Given the description of an element on the screen output the (x, y) to click on. 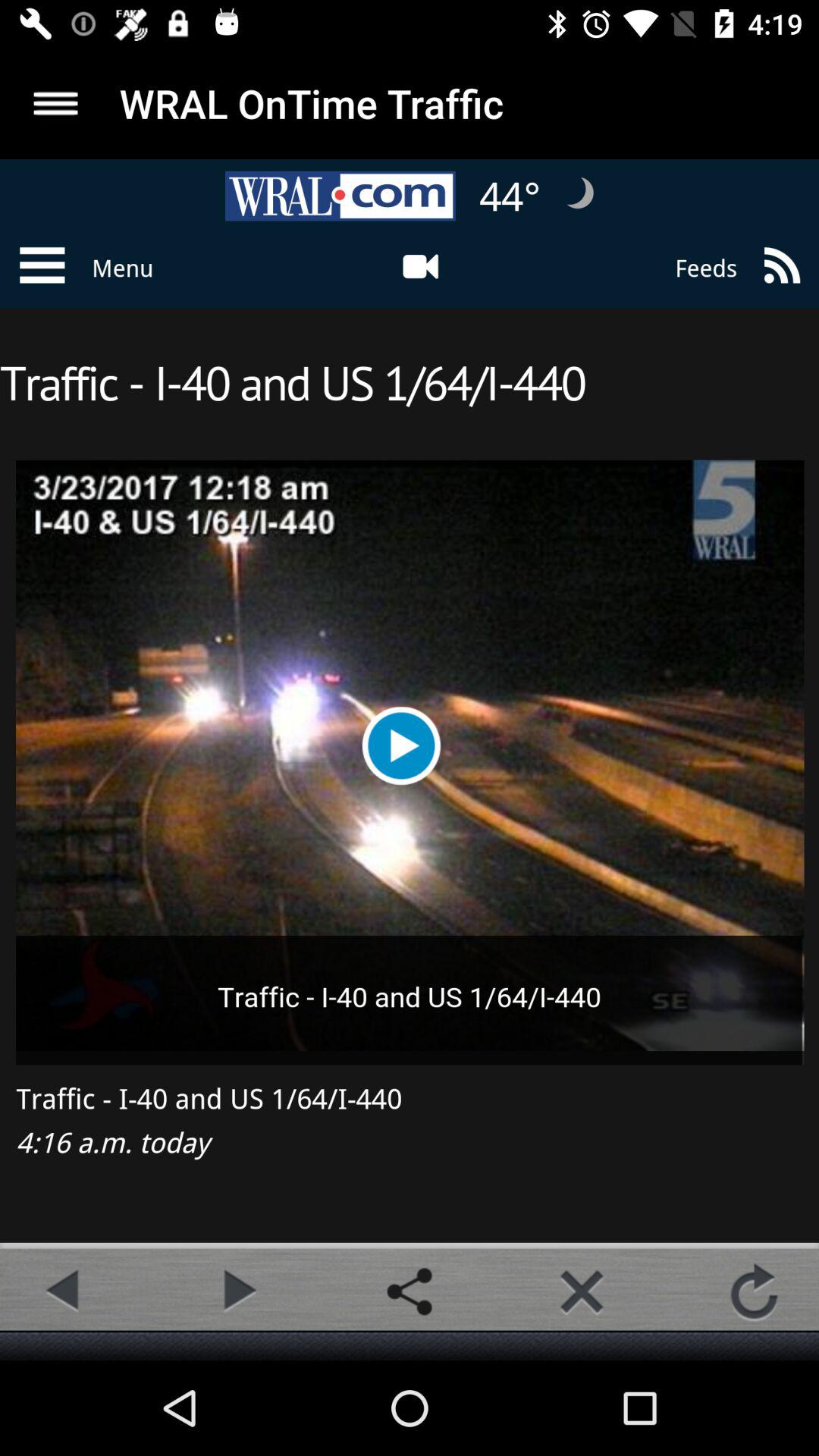
previous camera (64, 1291)
